Given the description of an element on the screen output the (x, y) to click on. 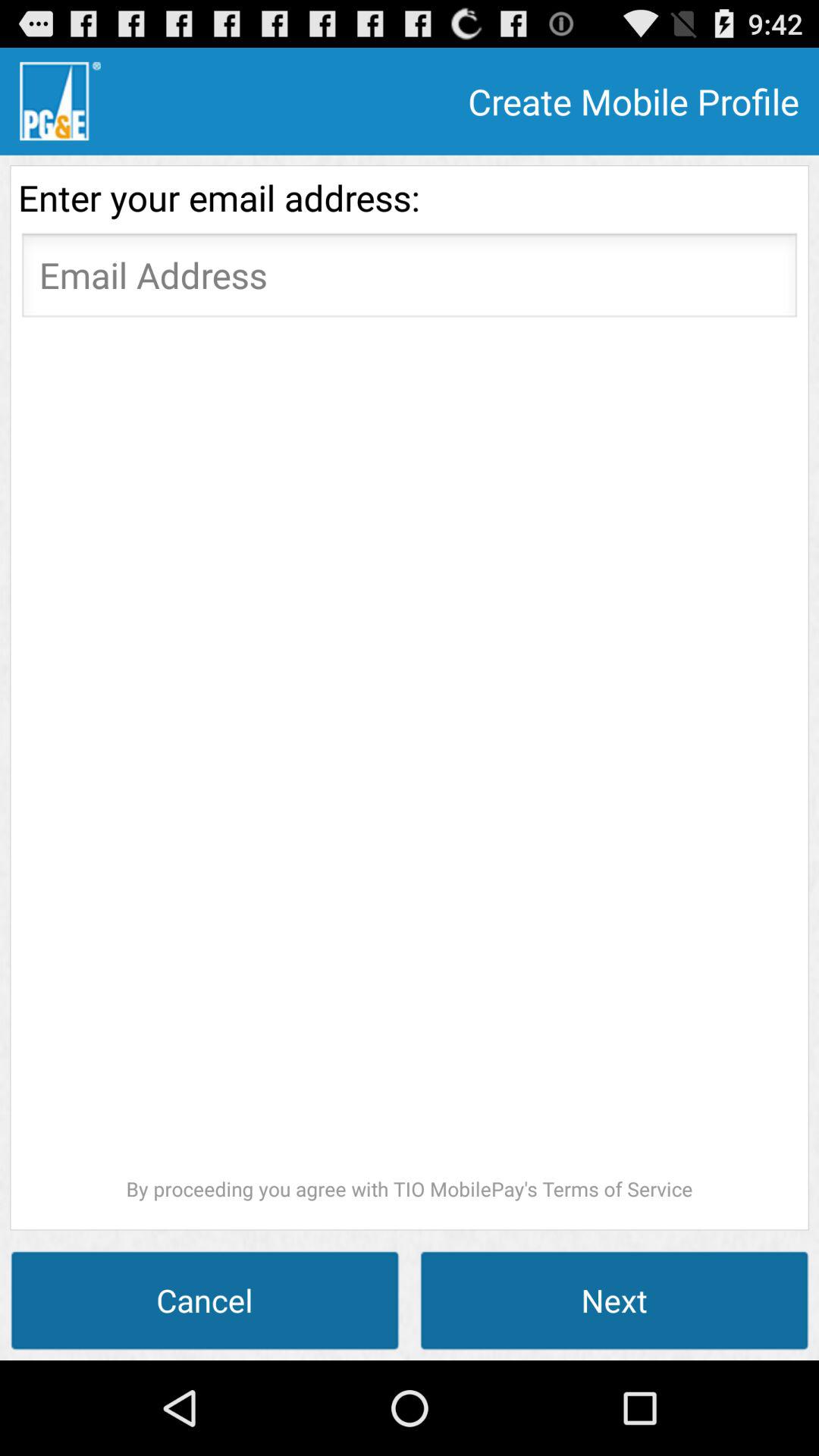
open the icon below the by proceeding you item (204, 1300)
